Given the description of an element on the screen output the (x, y) to click on. 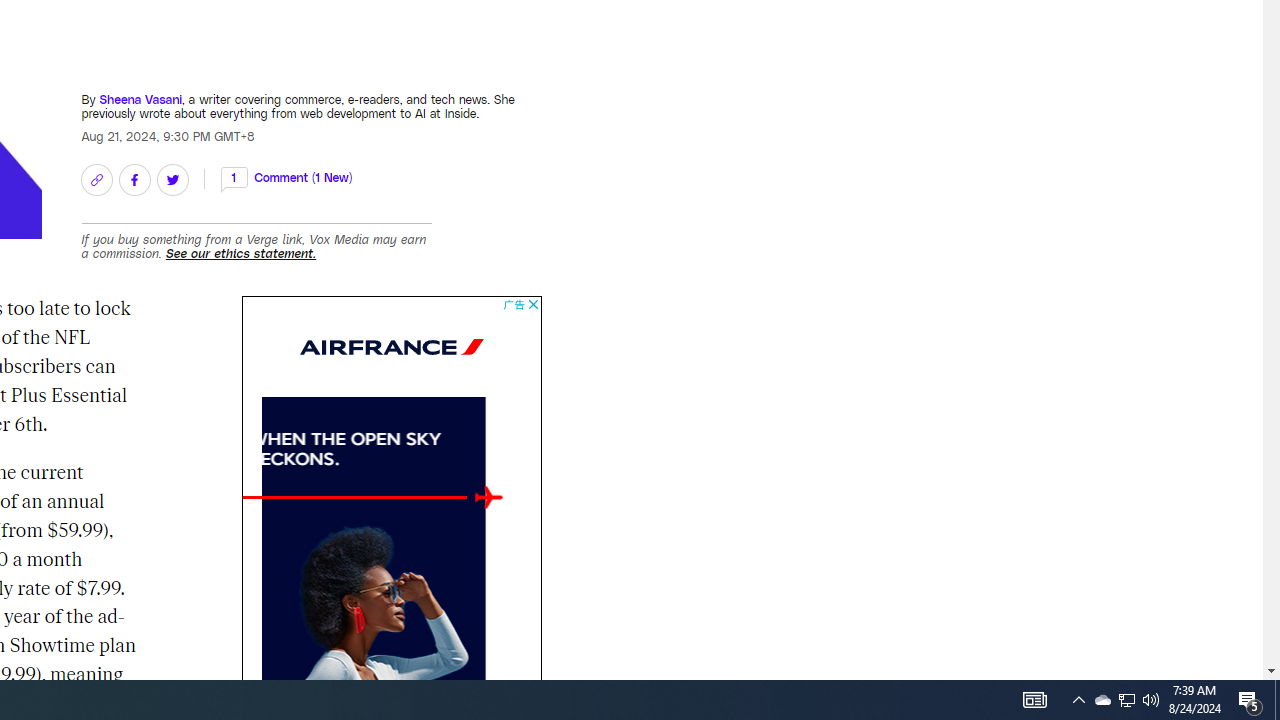
See our ethics statement. (241, 253)
1 Comment (1 New) (286, 176)
Share on Twitter (172, 179)
AutomationID: cbb (532, 304)
Share on Facebook (134, 179)
Copy link (96, 179)
Sheena Vasani (140, 97)
